Given the description of an element on the screen output the (x, y) to click on. 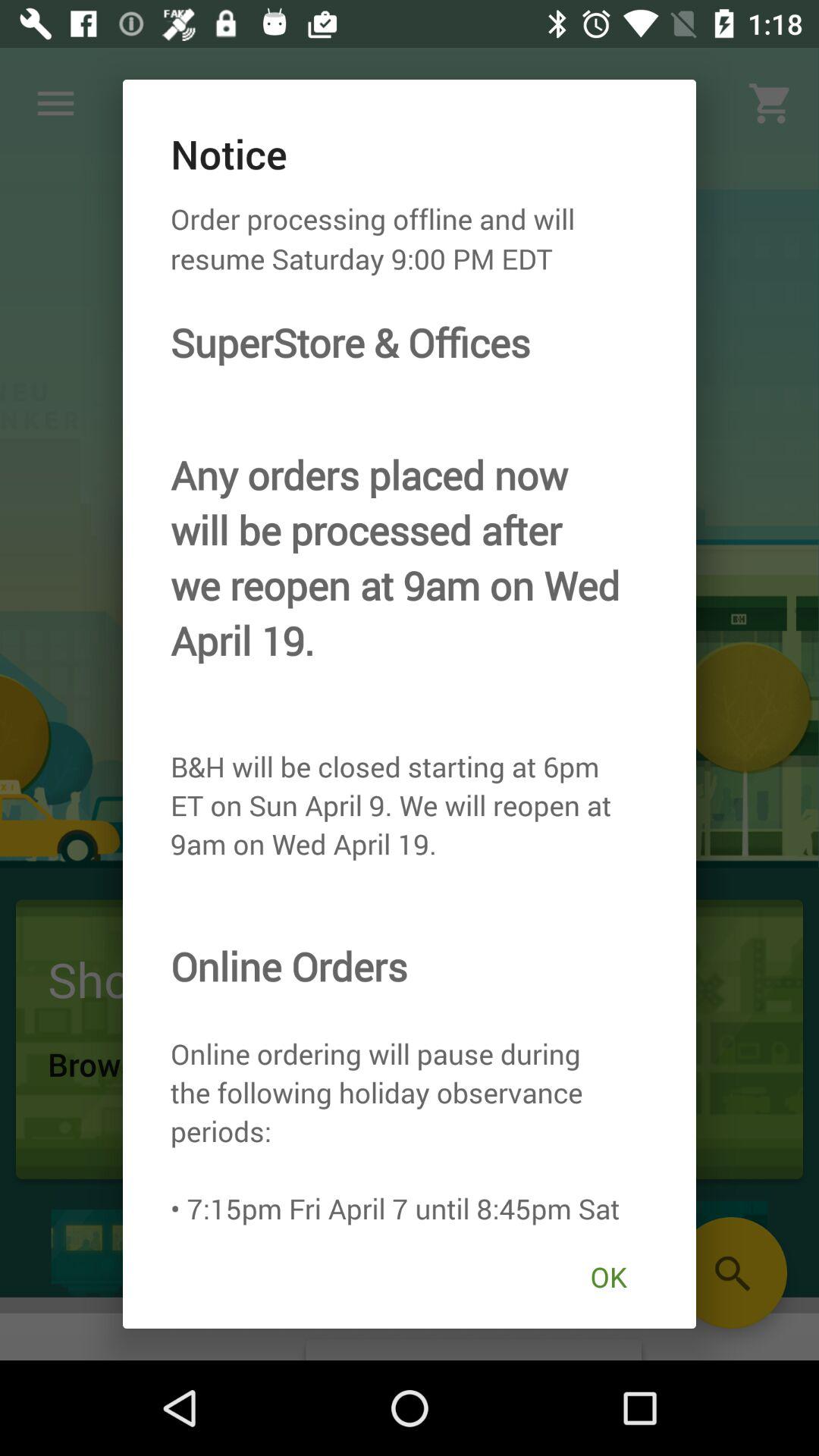
turn off the item at the bottom right corner (608, 1276)
